Given the description of an element on the screen output the (x, y) to click on. 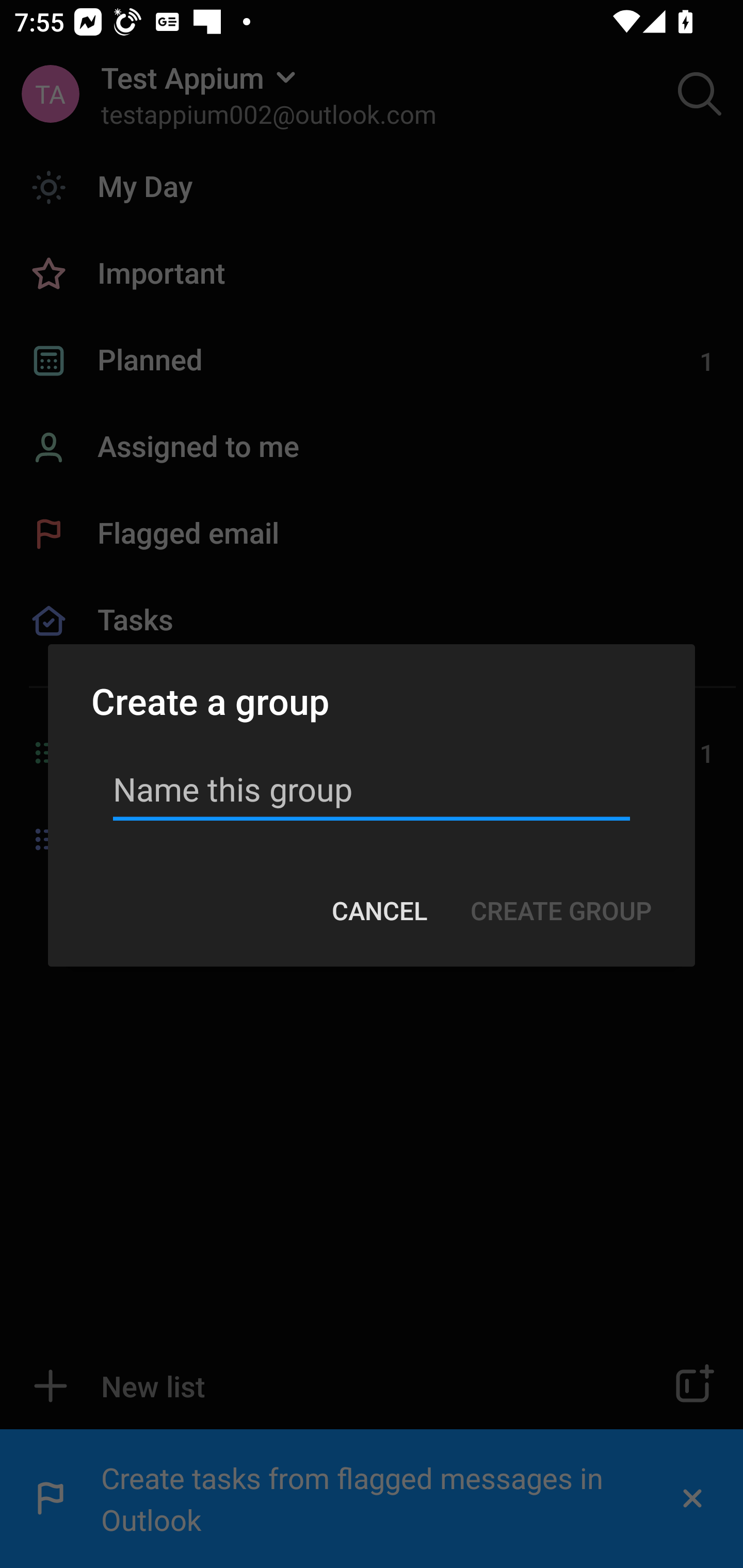
Name this group (371, 789)
CANCEL (378, 910)
CREATE GROUP (560, 910)
